Given the description of an element on the screen output the (x, y) to click on. 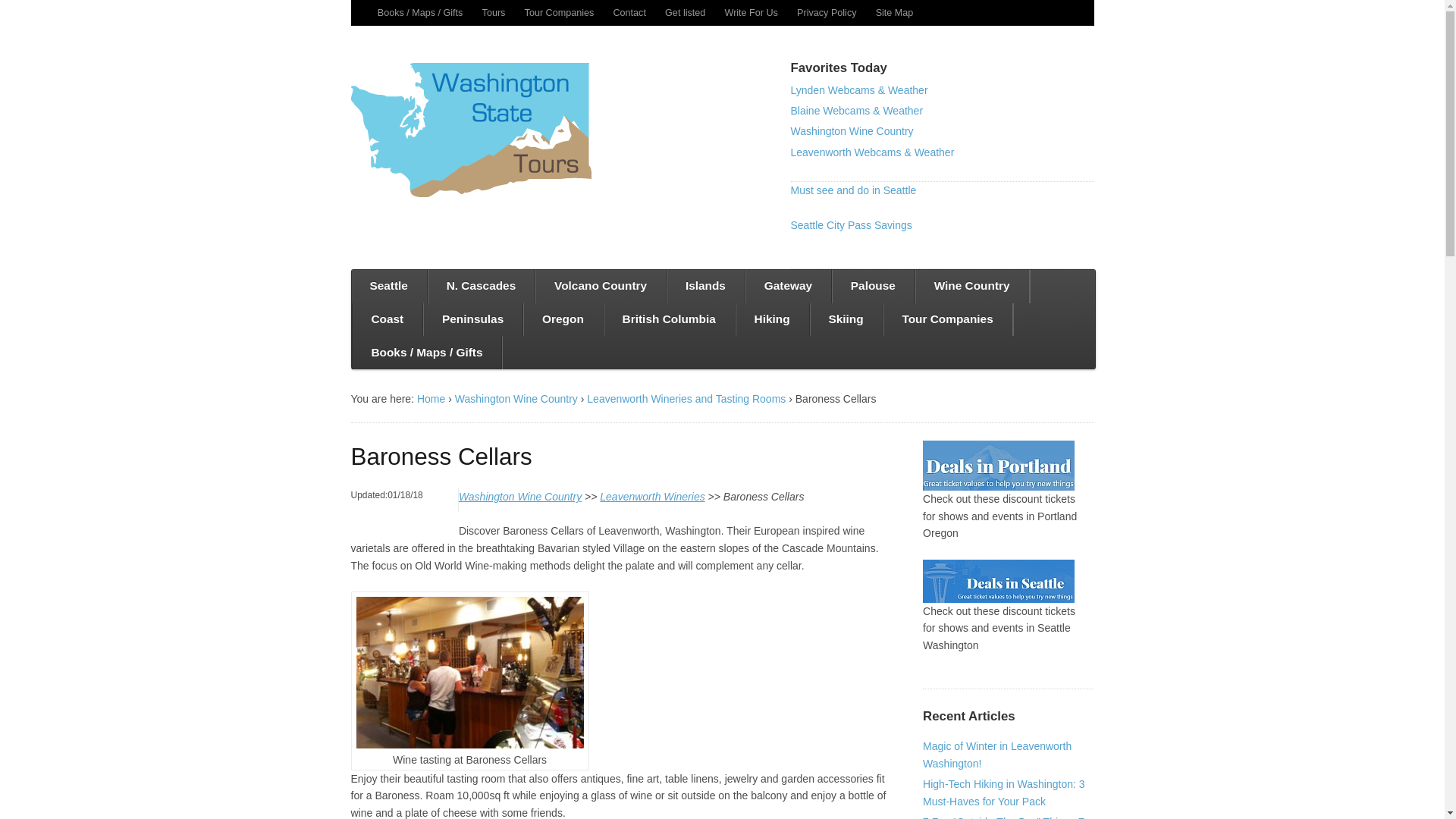
Site Map (894, 12)
Get listed (684, 12)
Washington State Tours (430, 398)
Providing travel ideas for visitors to Washington State (470, 130)
Washington Wine Country (851, 131)
Must see and do in Seattle (852, 190)
Seattle (388, 286)
Tours (493, 12)
Tour Companies (559, 12)
Contact (630, 12)
Privacy Policy (826, 12)
Washington State Wine Tours and Tasting Around Leavenworth (519, 496)
Leavenworth Wineries and Tasting Rooms (686, 398)
Write For Us (750, 12)
Seattle City Pass Savings (850, 224)
